Given the description of an element on the screen output the (x, y) to click on. 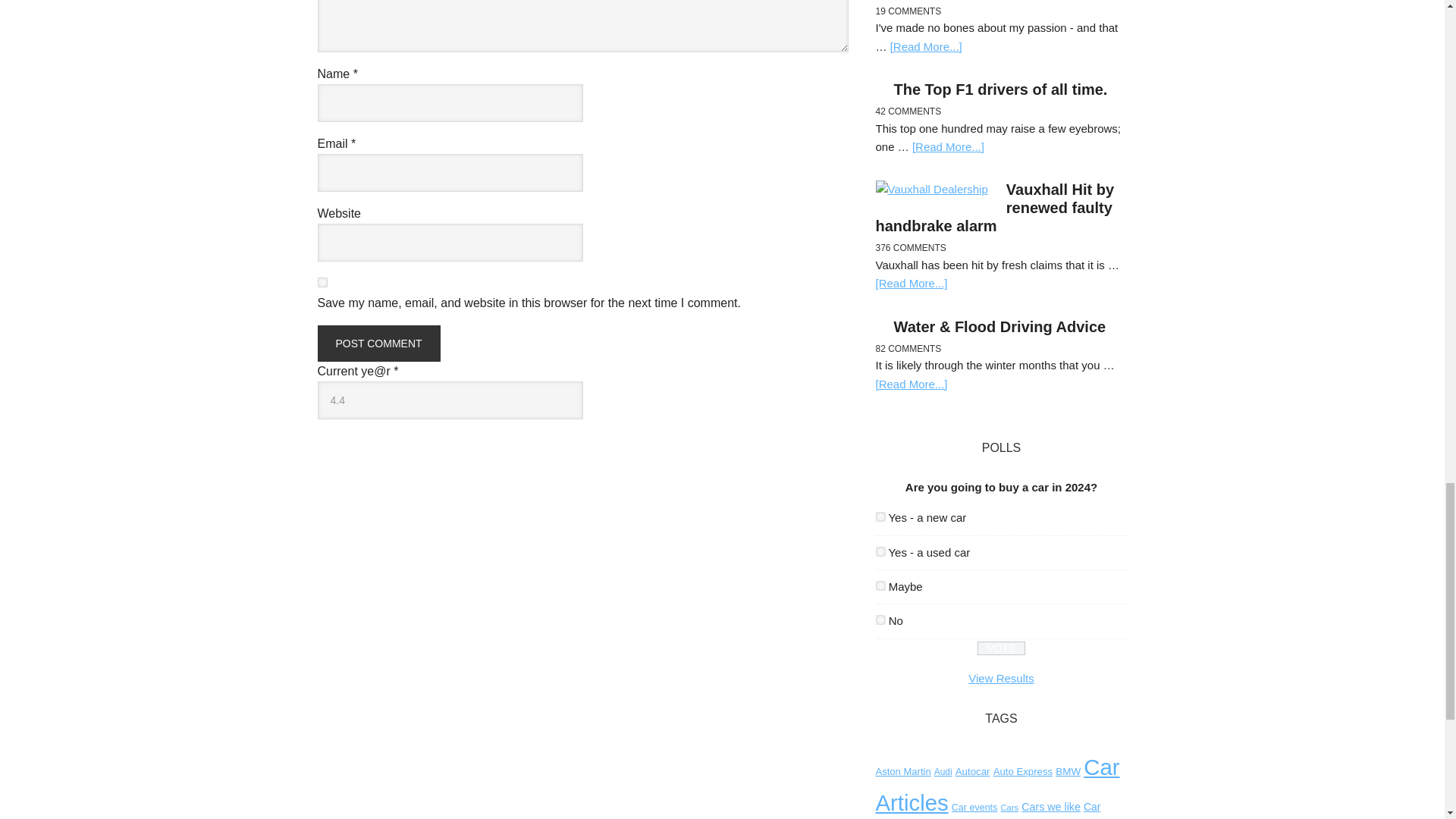
178 (880, 619)
View Results Of This Poll (1000, 677)
Post Comment (378, 343)
177 (880, 585)
   Vote    (1000, 648)
yes (321, 282)
Post Comment (378, 343)
175 (880, 516)
176 (880, 551)
4.4 (449, 400)
